Given the description of an element on the screen output the (x, y) to click on. 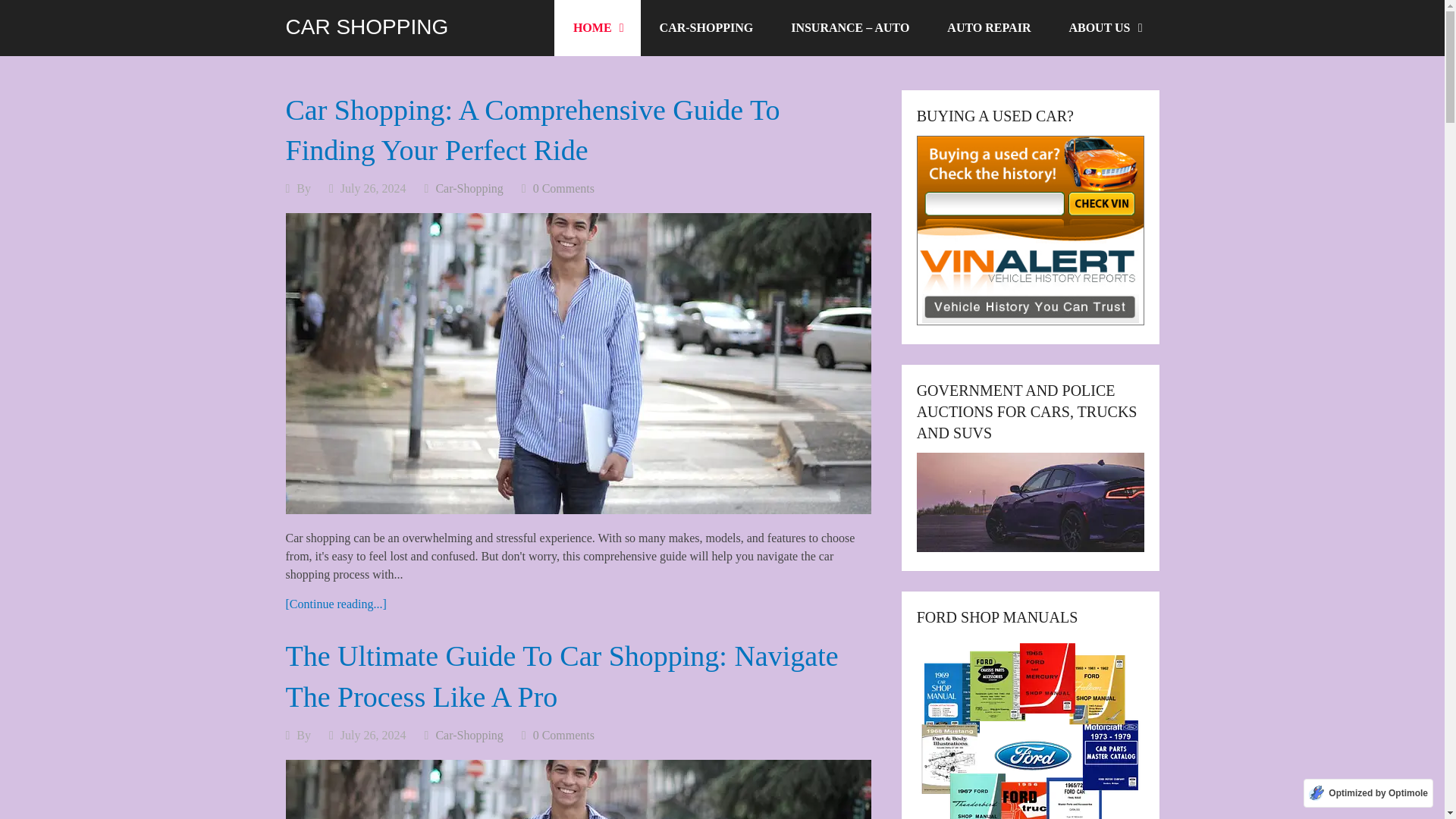
0 Comments (563, 735)
CAR SHOPPING (366, 26)
AUTO REPAIR (988, 28)
CAR-SHOPPING (706, 28)
Car-Shopping (468, 735)
HOME (597, 28)
Car-Shopping (468, 187)
ABOUT US (1103, 28)
